Given the description of an element on the screen output the (x, y) to click on. 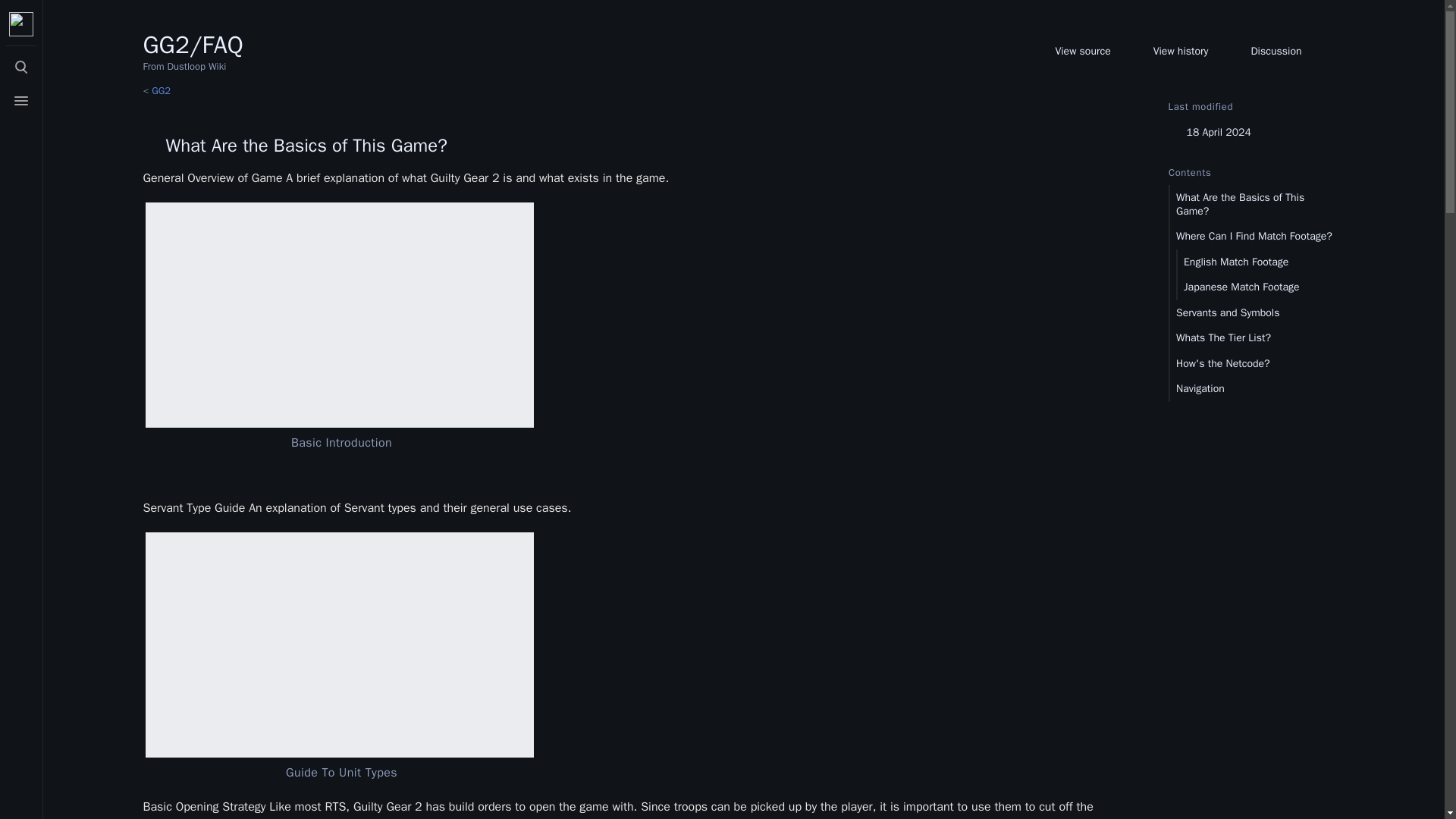
Toggle personal menu (20, 797)
Toggle menu (20, 100)
Visit the main page (20, 24)
